Given the description of an element on the screen output the (x, y) to click on. 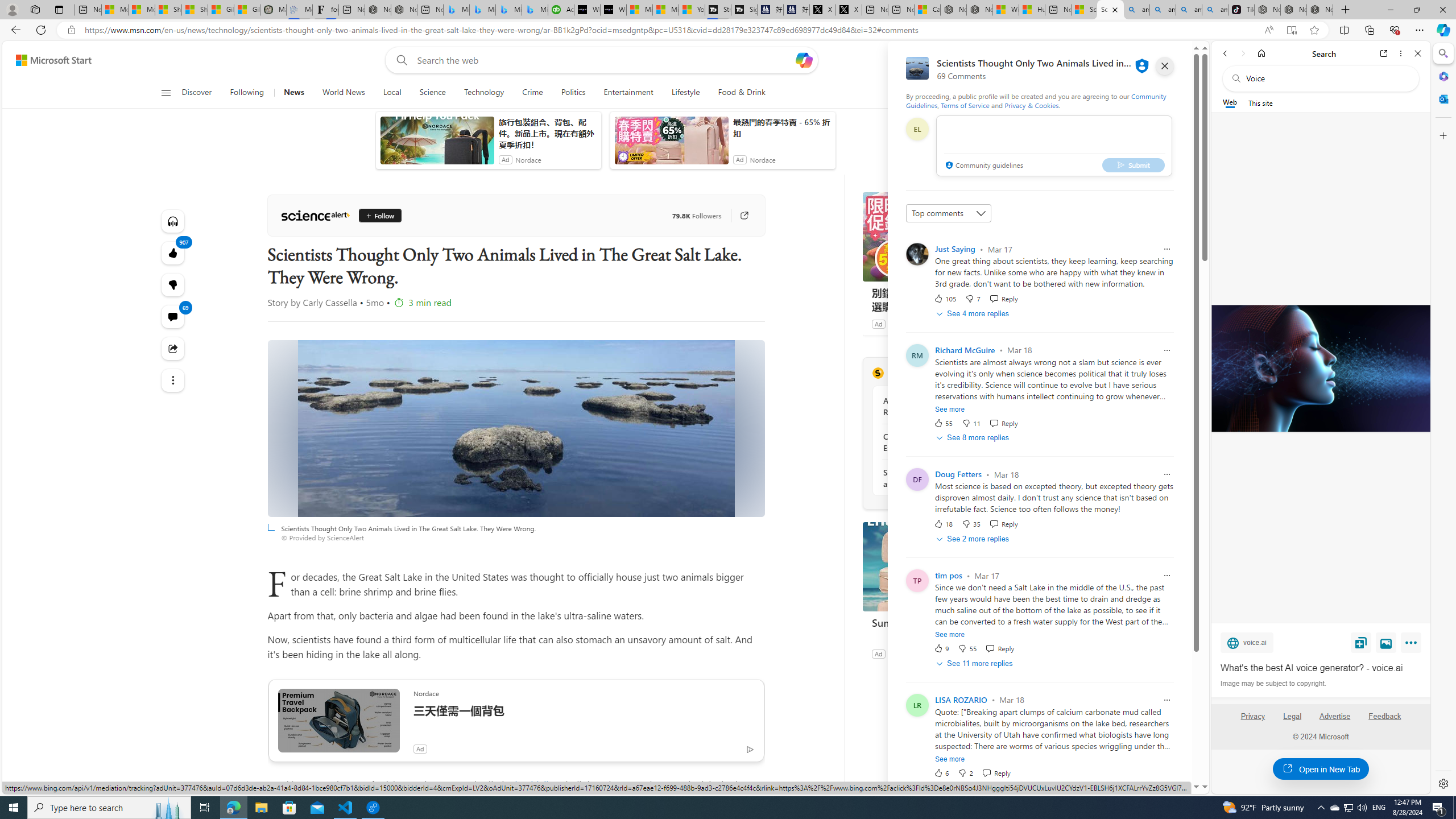
Open link in new tab (1383, 53)
App bar (728, 29)
What's the best AI voice generator? - voice.ai (1320, 667)
Advertise (1335, 715)
Tab actions menu (58, 9)
Open navigation menu (164, 92)
Community Guidelines (1035, 100)
Summer Adventure Sale (947, 566)
Discover (201, 92)
18 Like (942, 523)
Close tab (1114, 9)
Nordace - Siena Pro 15 Essential Set (1319, 9)
Richard McGuire (964, 349)
